Given the description of an element on the screen output the (x, y) to click on. 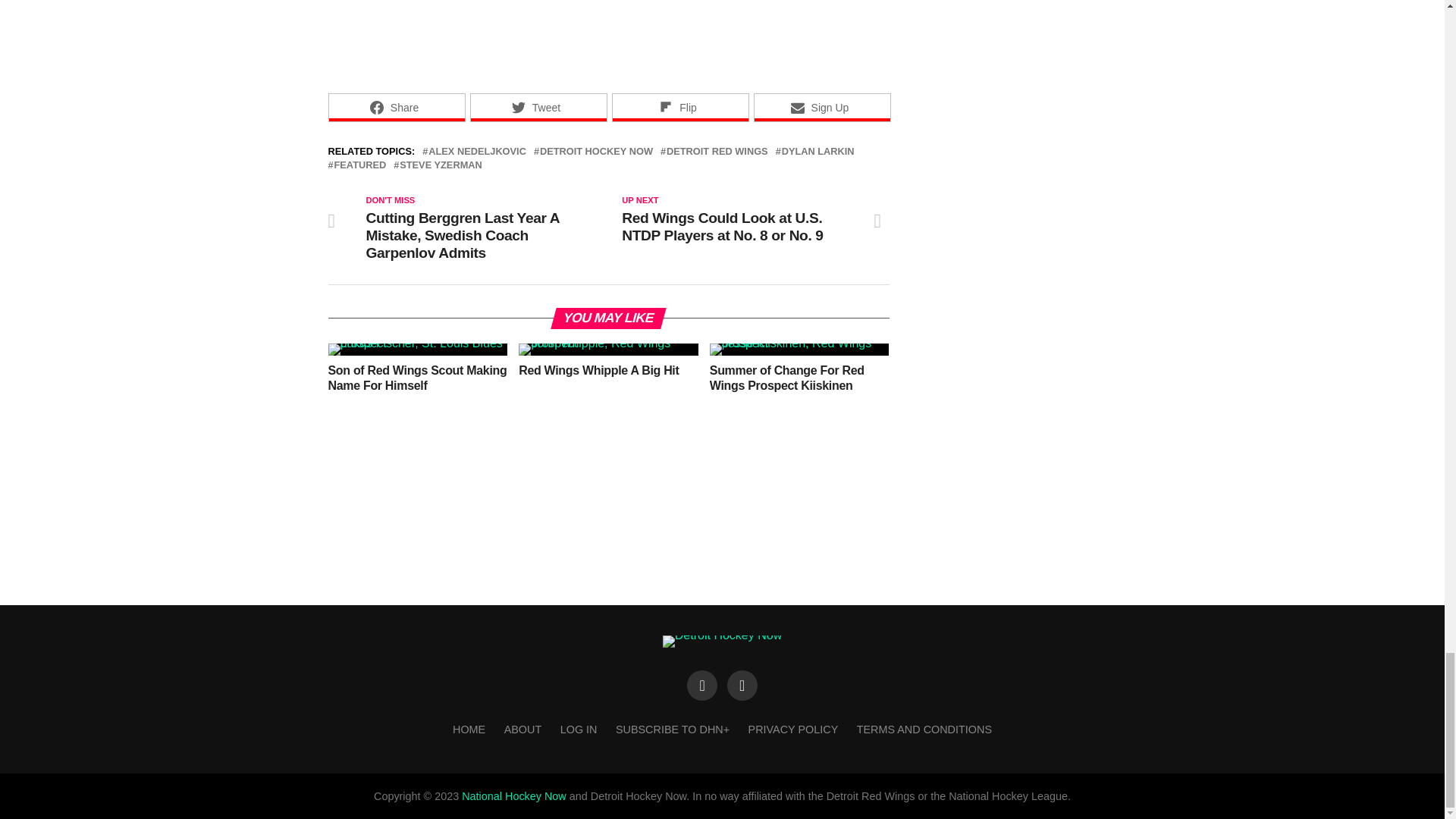
Share on Sign Up (822, 107)
Share on Flip (679, 107)
Share on Tweet (538, 107)
Share on Share (395, 107)
